Given the description of an element on the screen output the (x, y) to click on. 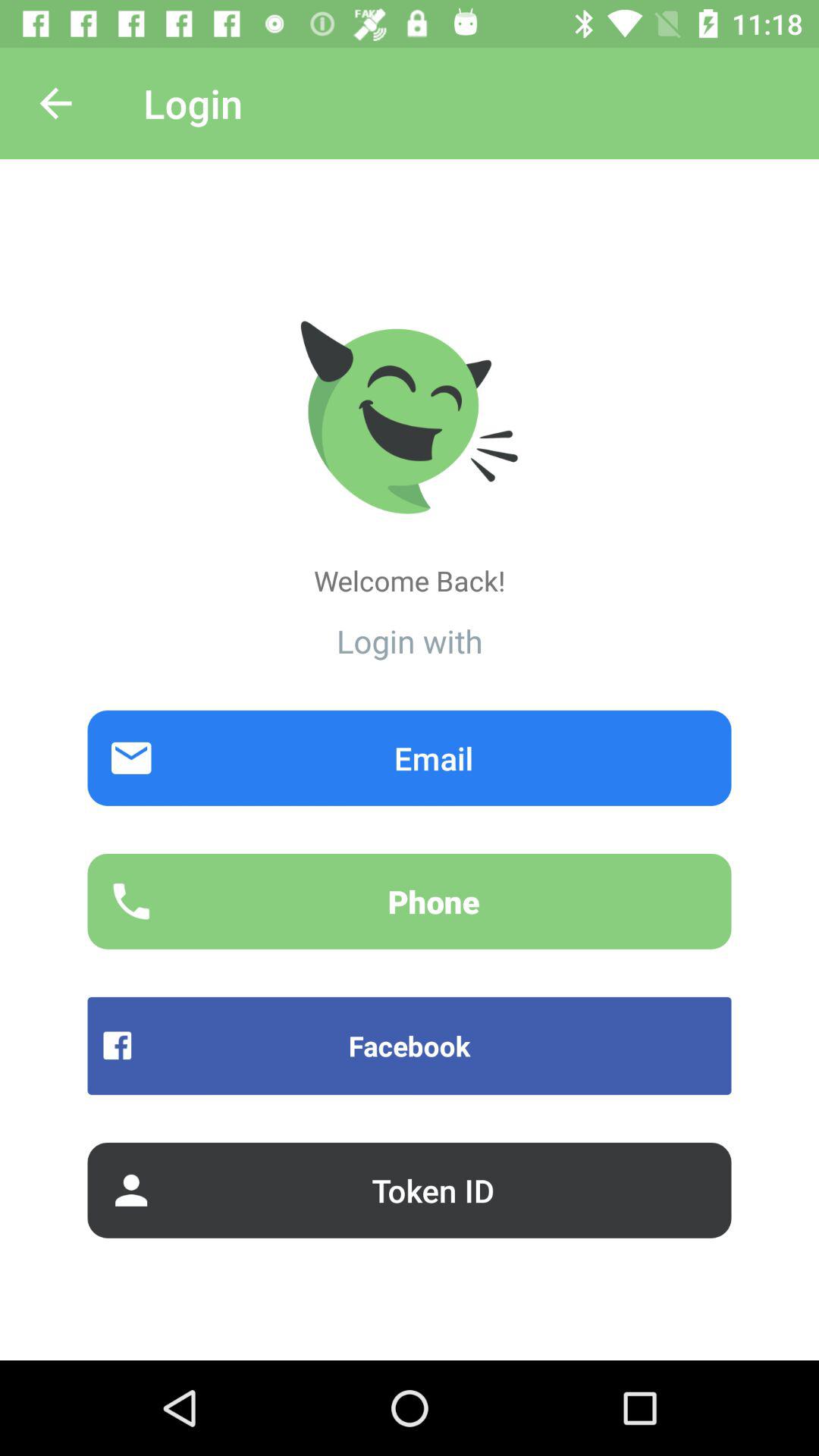
launch the icon below the facebook item (409, 1190)
